Given the description of an element on the screen output the (x, y) to click on. 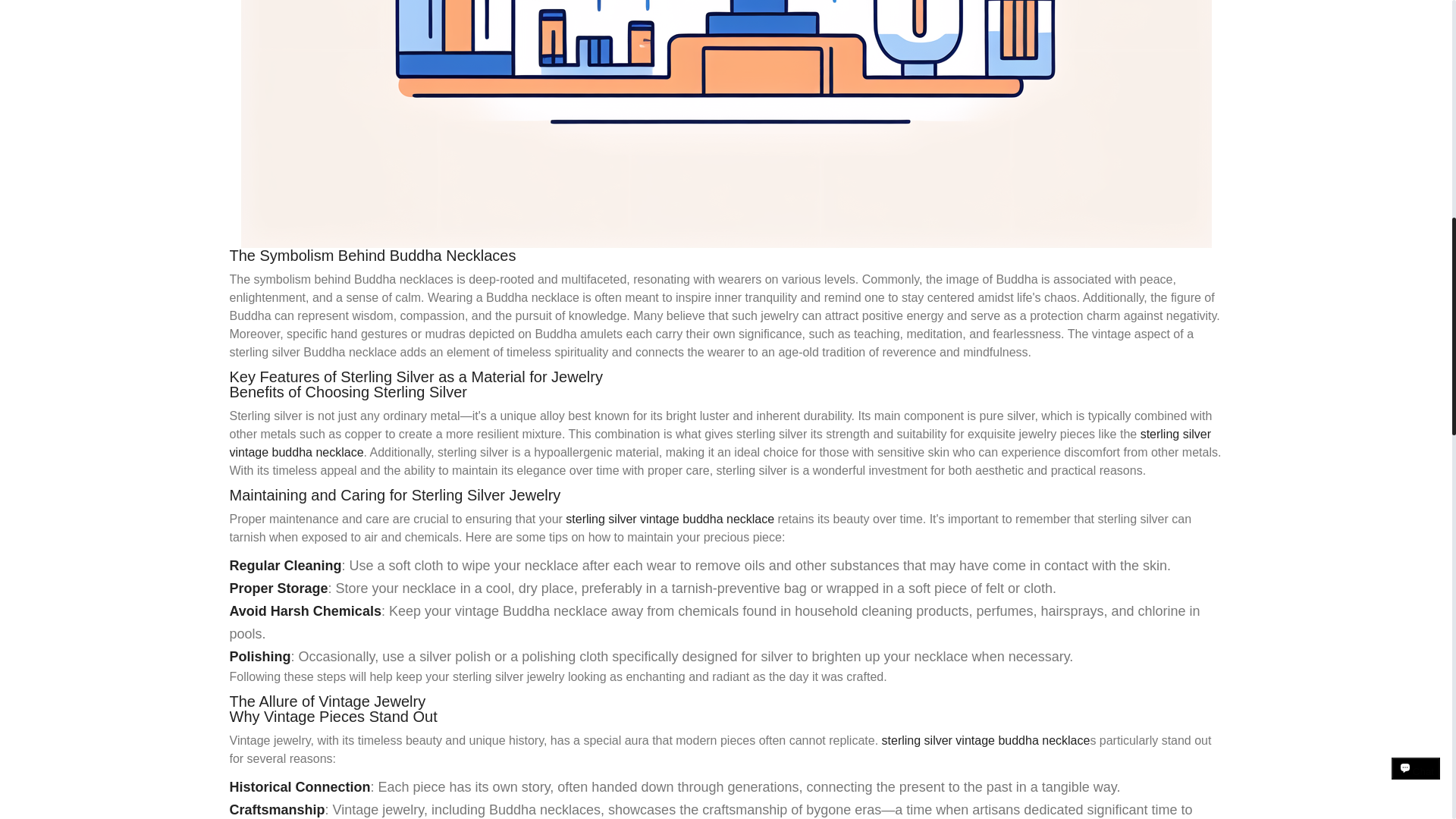
sterling silver vintage buddha necklace (986, 739)
sterling silver vintage buddha necklace (670, 518)
sterling silver vintage buddha necklace (718, 442)
